Given the description of an element on the screen output the (x, y) to click on. 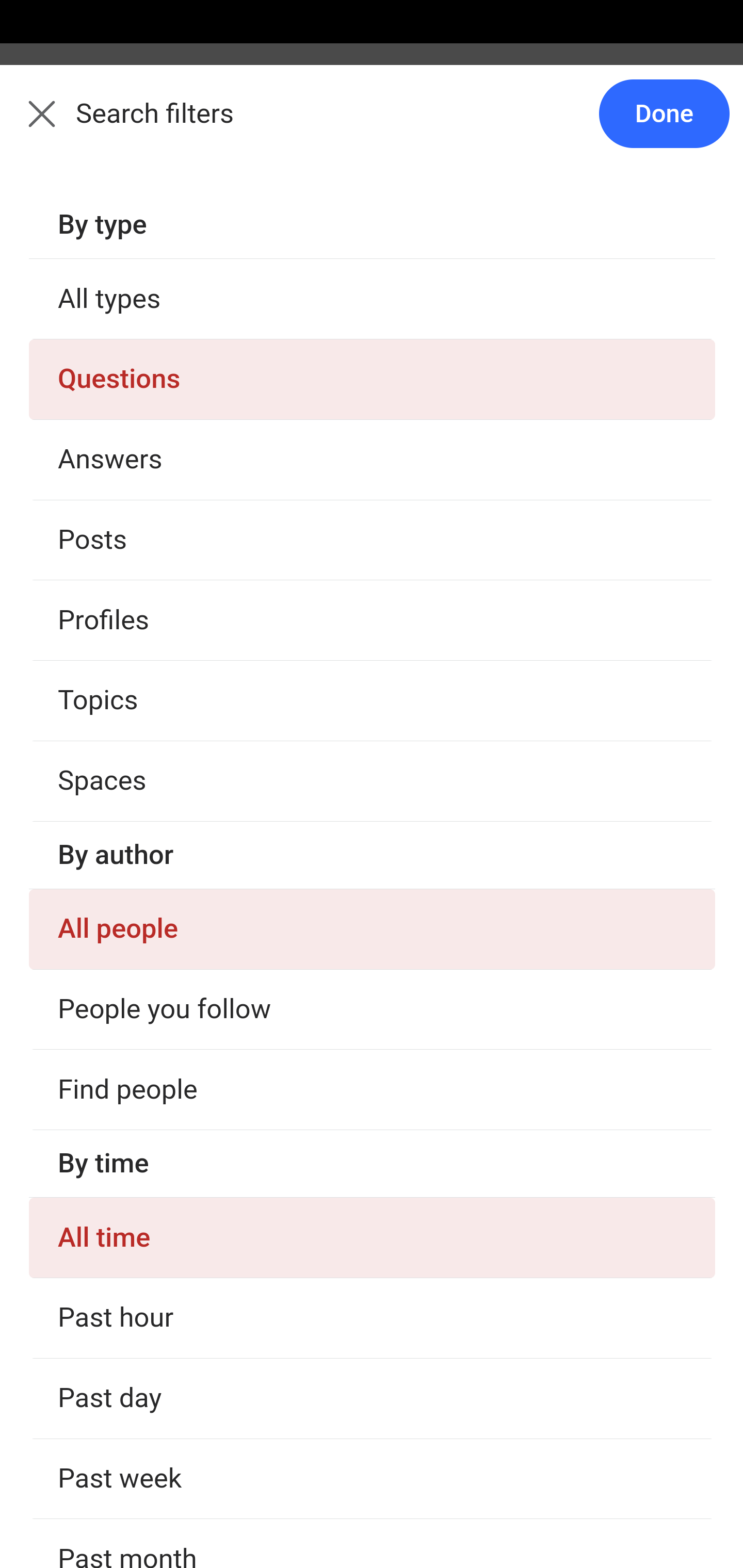
Back Search (371, 125)
Which is better, Arduino or Raspberry Pi? (372, 369)
Answer (125, 475)
Answer (125, 713)
Answer (125, 1237)
Answer (125, 1475)
What is Arduino and when I can use it? (372, 1557)
